Given the description of an element on the screen output the (x, y) to click on. 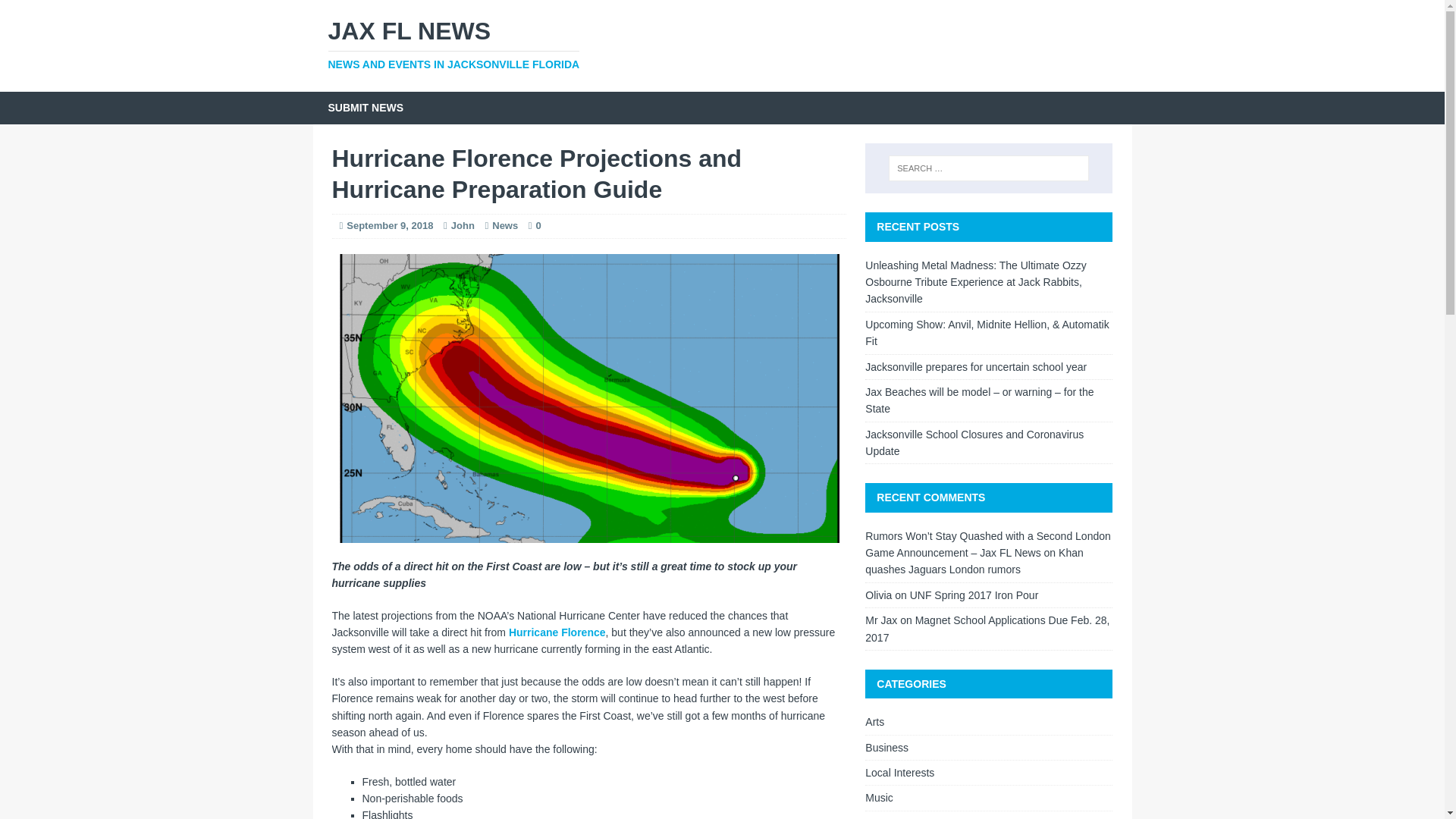
SUBMIT NEWS (366, 107)
Business (988, 747)
Arts (988, 723)
Magnet School Applications Due Feb. 28, 2017 (986, 628)
Jacksonville prepares for uncertain school year (975, 367)
John (462, 225)
News (988, 815)
News (722, 45)
Jacksonville School Closures and Coronavirus Update (505, 225)
UNF Spring 2017 Iron Pour (973, 442)
Jax FL News (974, 594)
Music (722, 45)
September 9, 2018 (988, 797)
